Given the description of an element on the screen output the (x, y) to click on. 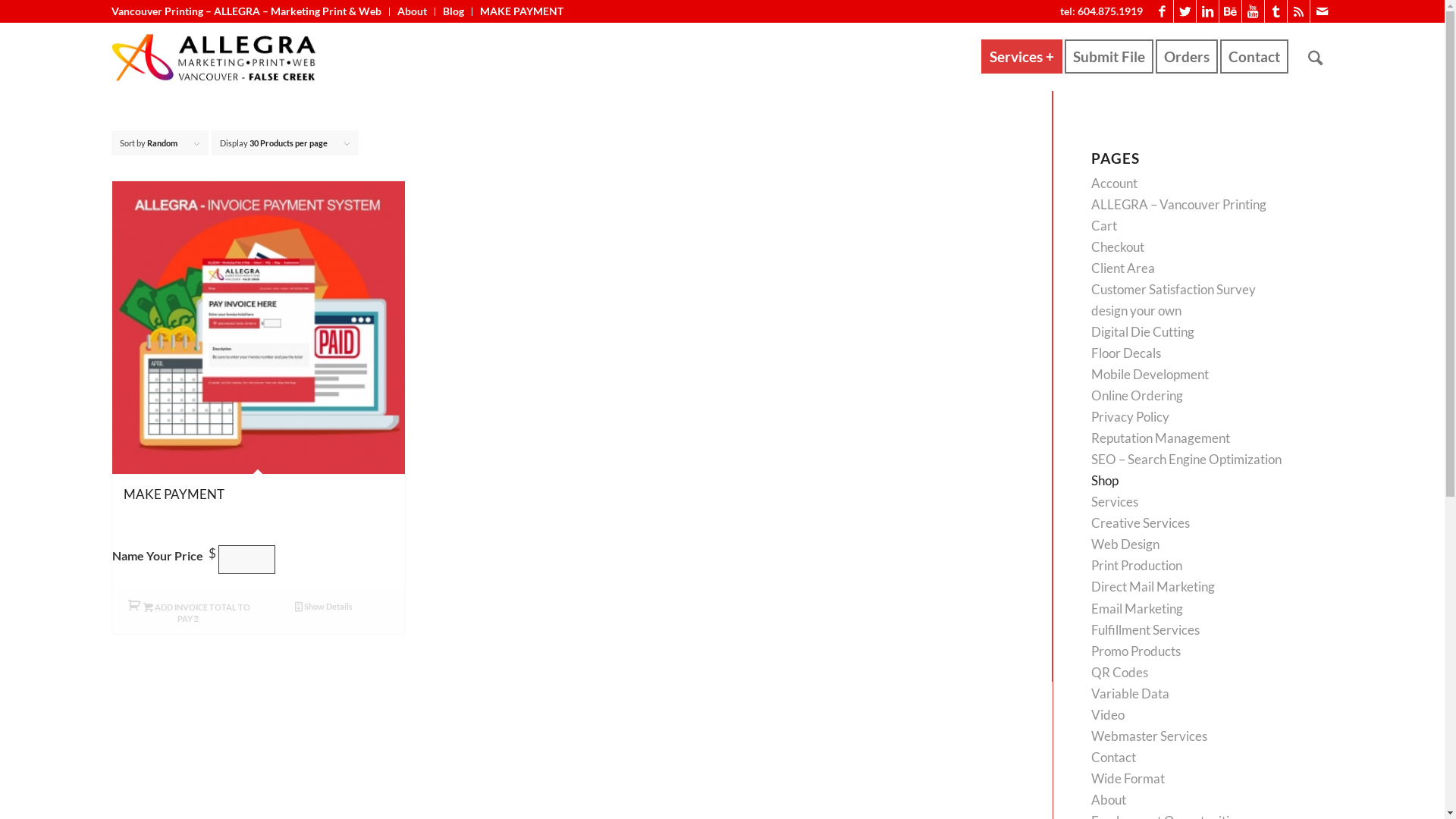
Video Element type: text (1107, 714)
Promo Products Element type: text (1135, 650)
Variable Data Element type: text (1130, 693)
Twitter Element type: hover (1184, 11)
About Element type: text (1108, 799)
Email Marketing Element type: text (1137, 608)
Reputation Management Element type: text (1160, 437)
Submit File Element type: text (1113, 56)
Shop Element type: text (1104, 480)
Creative Services Element type: text (1140, 522)
Services + Element type: text (1021, 56)
Account Element type: text (1114, 183)
604.875.1919 Element type: text (1109, 10)
Linkedin Element type: hover (1207, 11)
Client Area Element type: text (1122, 268)
Tumblr Element type: hover (1275, 11)
Rss Element type: hover (1298, 11)
Privacy Policy Element type: text (1130, 416)
Web Design Element type: text (1125, 544)
Orders Element type: text (1191, 56)
MAKE PAYMENT Element type: text (258, 361)
Direct Mail Marketing Element type: text (1152, 586)
Services Element type: text (1114, 501)
Customer Satisfaction Survey Element type: text (1173, 289)
Fulfillment Services Element type: text (1145, 629)
Webmaster Services Element type: text (1149, 735)
Show Details Element type: text (323, 605)
QR Codes Element type: text (1119, 672)
Digital Die Cutting Element type: text (1142, 331)
Behance Element type: hover (1230, 11)
Mobile Development Element type: text (1149, 374)
Print Production Element type: text (1136, 565)
design your own Element type: text (1136, 310)
Wide Format Element type: text (1127, 778)
Checkout Element type: text (1117, 246)
Contact Element type: text (1259, 56)
Floor Decals Element type: text (1126, 352)
Cart Element type: text (1104, 225)
Mail Element type: hover (1321, 11)
Youtube Element type: hover (1253, 11)
Contact Element type: text (1113, 757)
Online Ordering Element type: text (1137, 395)
Facebook Element type: hover (1162, 11)
